Given the description of an element on the screen output the (x, y) to click on. 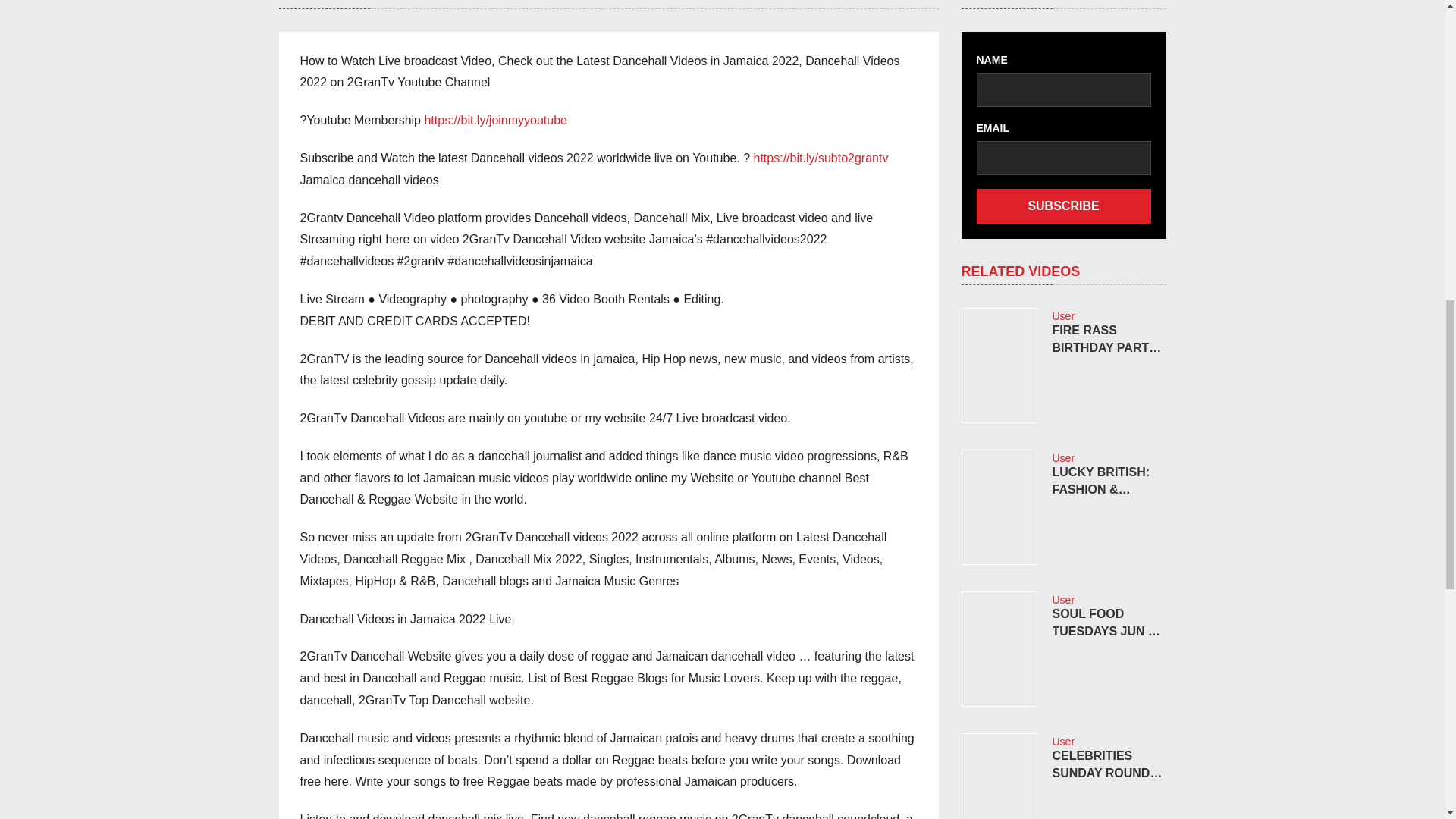
Subscribe (1063, 206)
Posts by user (1063, 316)
Posts by user (1063, 741)
Posts by user (1063, 458)
Posts by user (1063, 599)
